Given the description of an element on the screen output the (x, y) to click on. 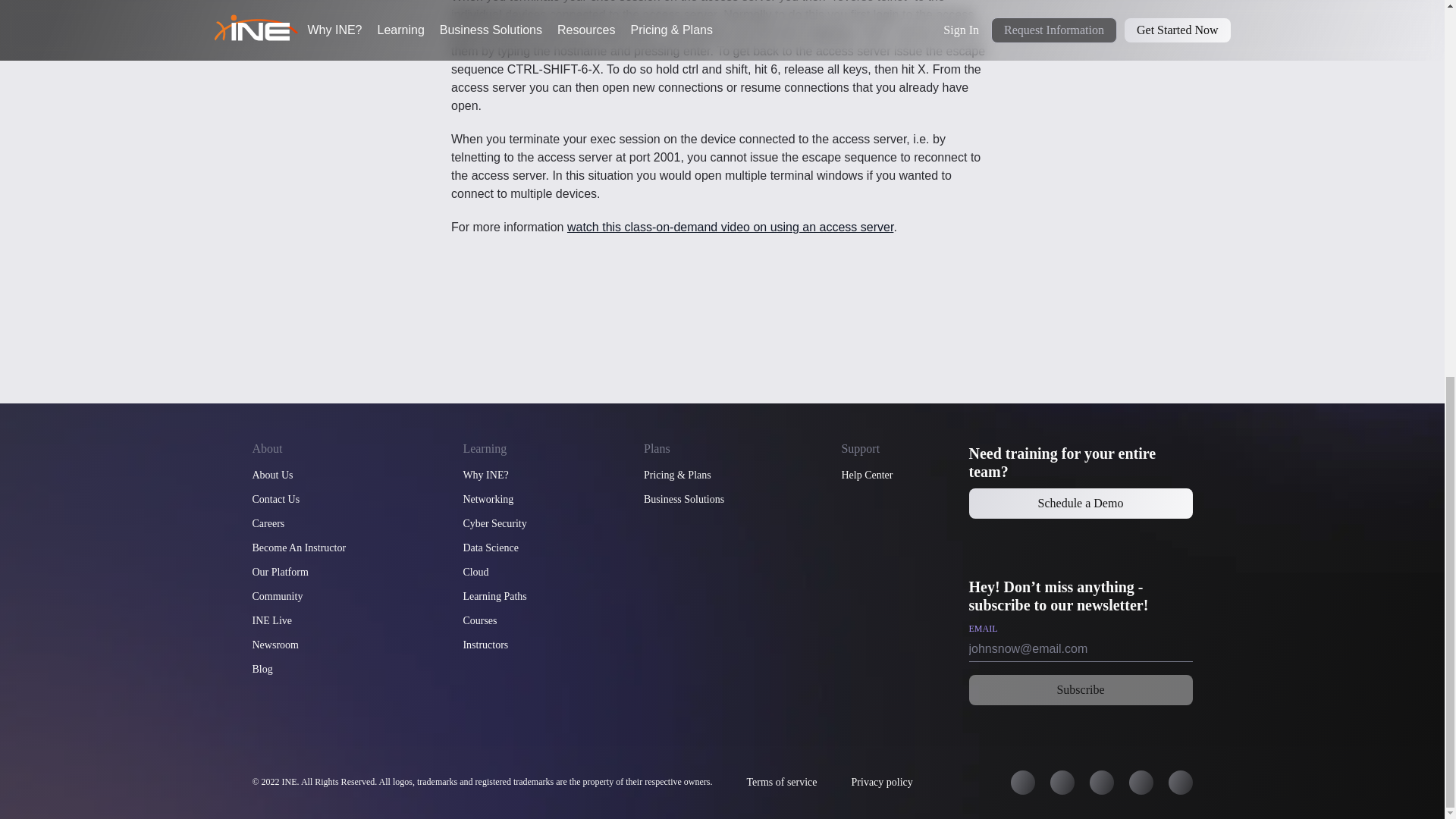
Community (276, 595)
Schedule a Demo (1080, 503)
Subscribe (1080, 689)
Careers (267, 523)
watch this class-on-demand video on using an access server (730, 226)
Become An Instructor (298, 547)
